Given the description of an element on the screen output the (x, y) to click on. 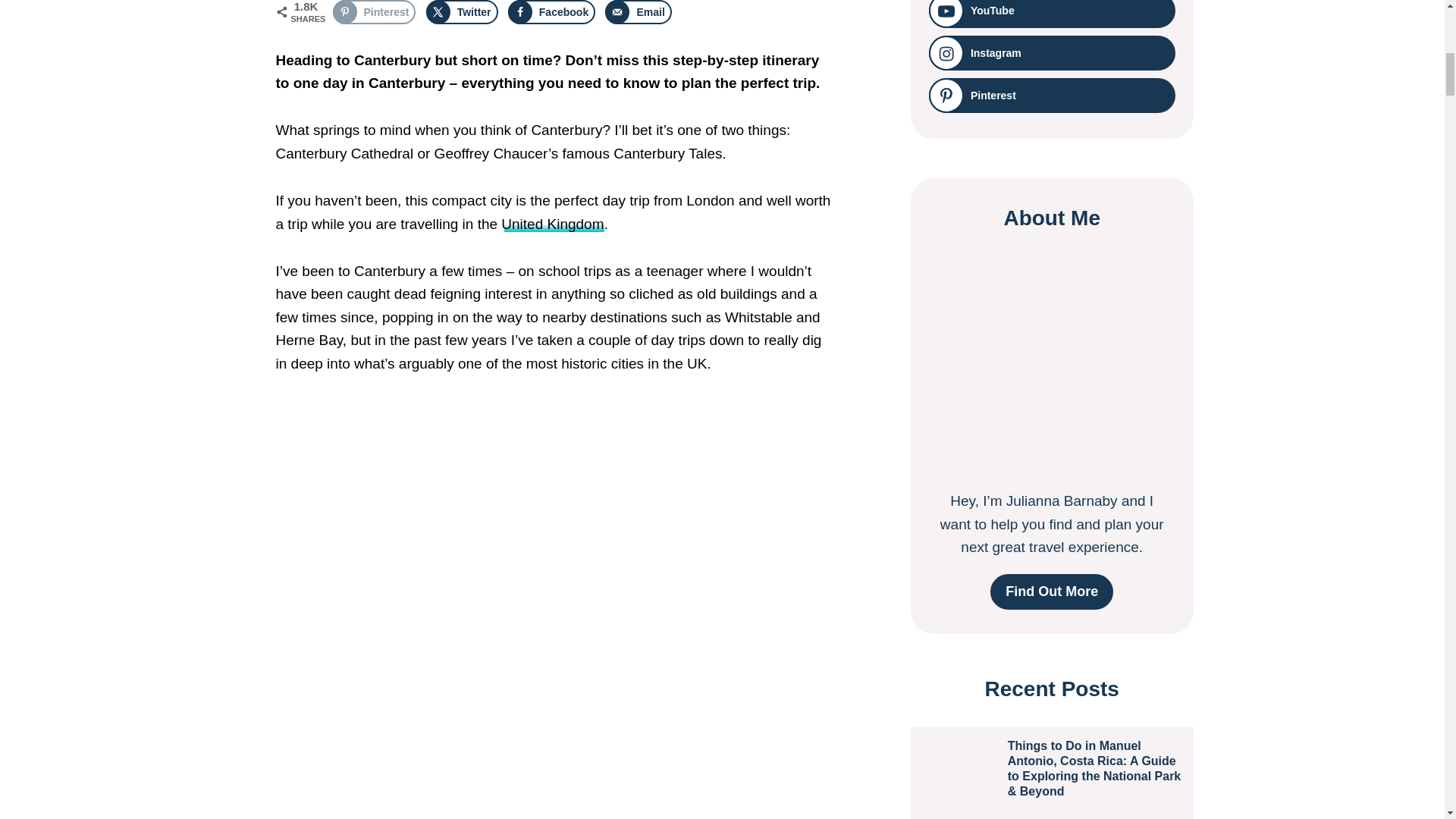
Share on Facebook (551, 12)
Share on X (461, 12)
Follow on Instagram (1051, 53)
Save to Pinterest (372, 12)
Follow on YouTube (1051, 13)
Send over email (638, 12)
Follow on Pinterest (1051, 95)
